Given the description of an element on the screen output the (x, y) to click on. 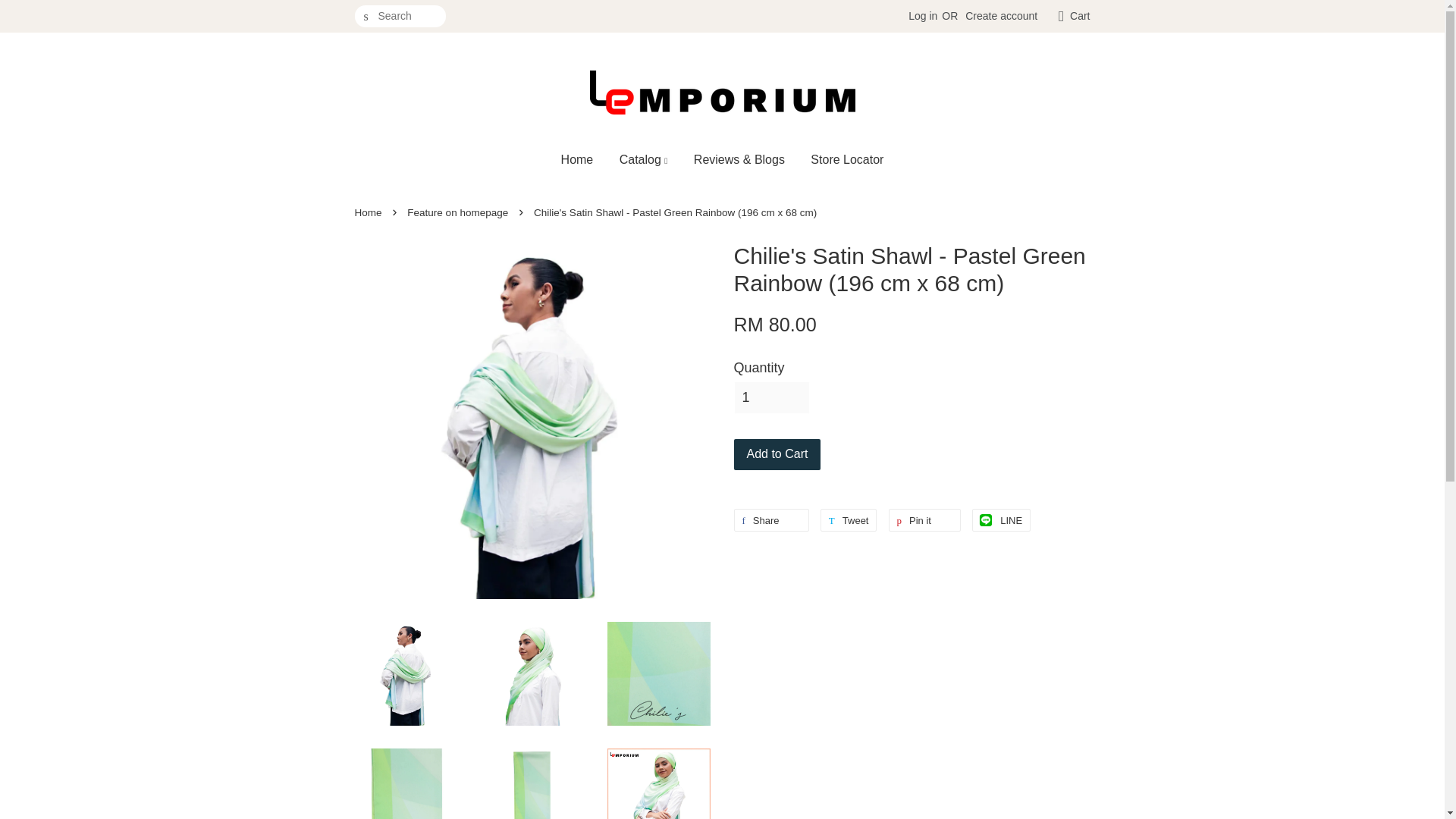
Cart (1079, 16)
icon-line (985, 520)
Log in (922, 15)
1 (771, 397)
Create account (1000, 15)
Back to the homepage (370, 212)
Home (582, 159)
Search (366, 16)
Catalog (643, 159)
